Given the description of an element on the screen output the (x, y) to click on. 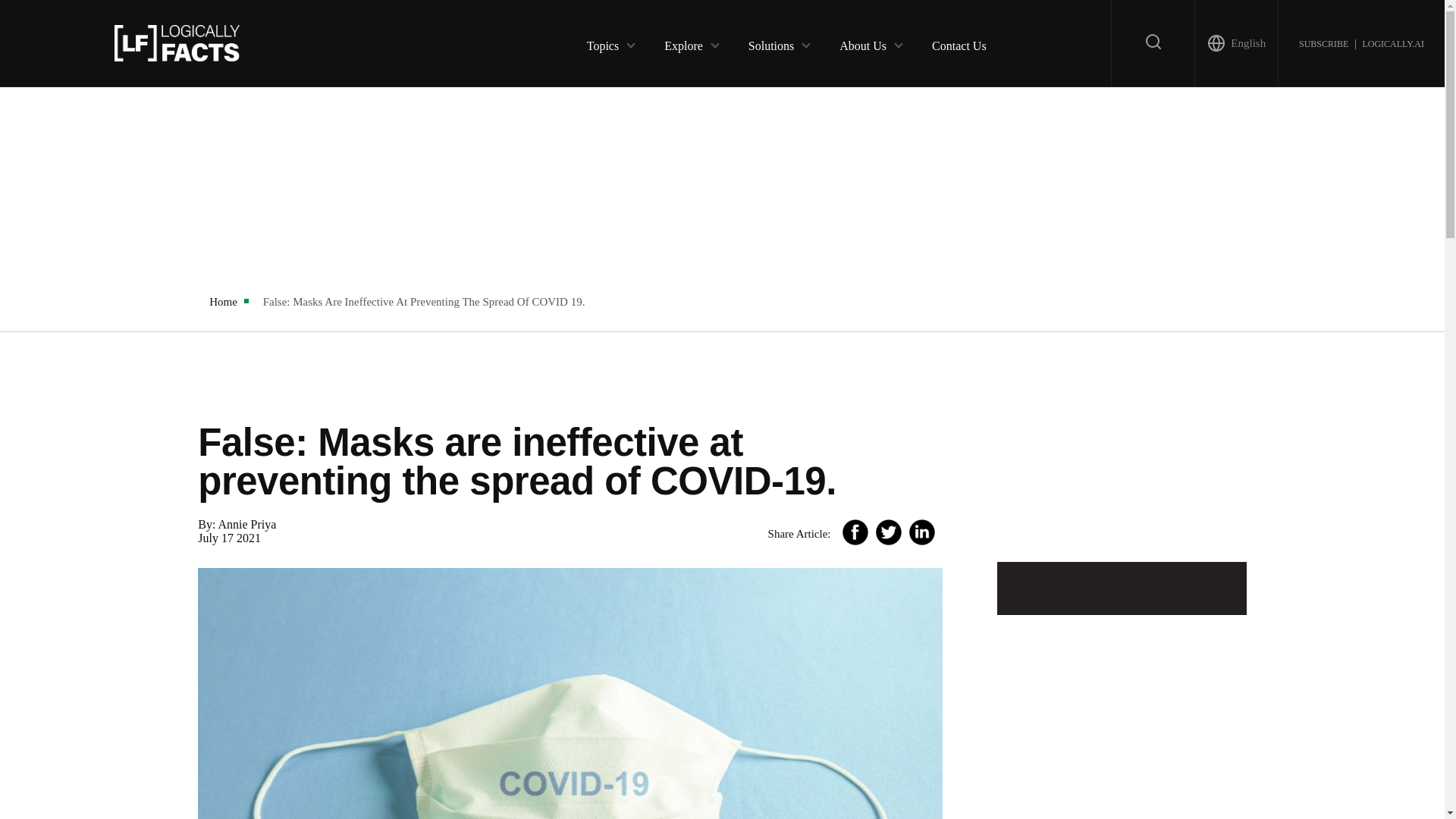
Contact Us (959, 42)
Explore (683, 42)
SUBSCRIBE (1323, 42)
LOGICALLY.AI (1392, 42)
Topics (602, 42)
Solutions (770, 42)
Home (223, 301)
About Us (863, 42)
